Given the description of an element on the screen output the (x, y) to click on. 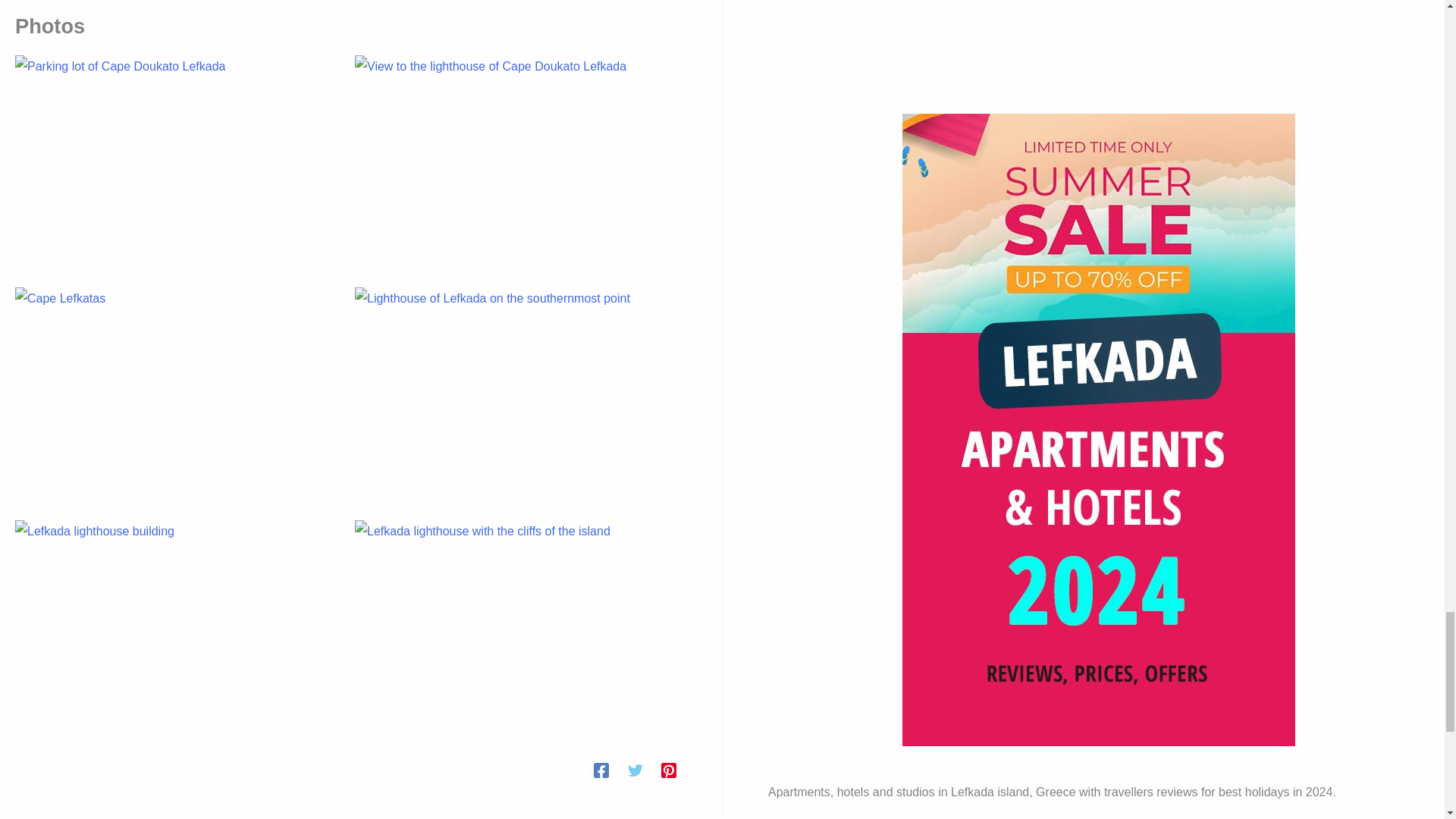
Lighthouse in Lefkada (516, 394)
Cape Doukato, Lefkada (516, 162)
Parking lot of Cape Doukato Lefkada (175, 162)
Lefkada lighthouse (175, 626)
Cape Lefkatas (175, 394)
Lefkada lighthouse (516, 626)
